Given the description of an element on the screen output the (x, y) to click on. 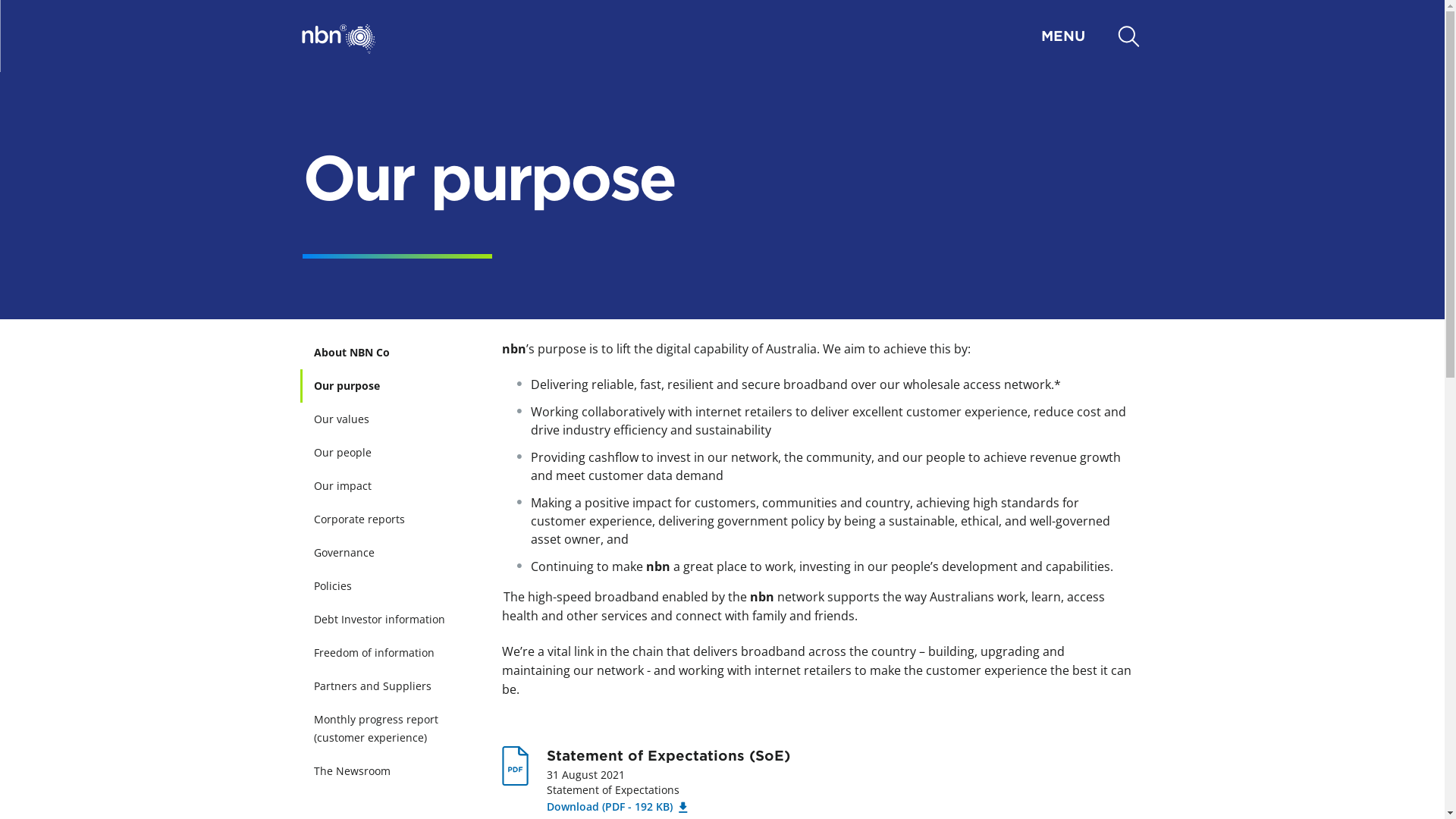
Monthly progress report (customer experience) Element type: text (387, 728)
MENU Element type: text (738, 36)
Our values Element type: text (387, 419)
Our impact Element type: text (387, 485)
About NBN Co Element type: text (387, 352)
Our purpose
Current section Element type: text (387, 385)
Policies Element type: text (387, 585)
The Newsroom Element type: text (387, 770)
Debt Investor information Element type: text (387, 619)
Download (PDF - 192 KB) Element type: text (616, 806)
Corporate reports Element type: text (387, 519)
Partners and Suppliers Element type: text (387, 685)
Freedom of information Element type: text (387, 652)
Governance Element type: text (387, 552)
Our people Element type: text (387, 452)
